Given the description of an element on the screen output the (x, y) to click on. 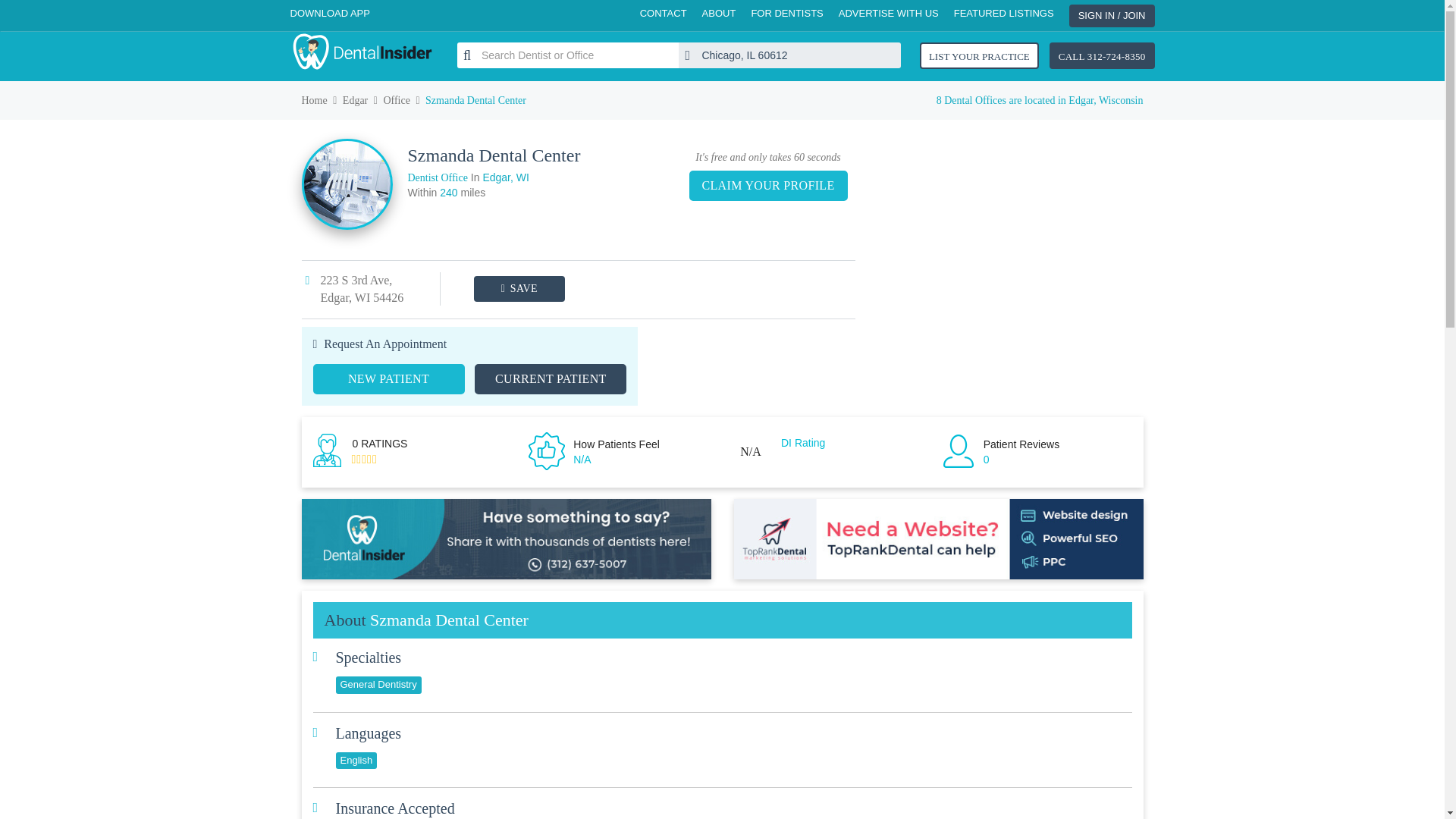
CONTACT (663, 13)
DOWNLOAD APP (329, 13)
Home (314, 100)
Chicago, IL 60612 (789, 54)
ABOUT (718, 13)
NEW PATIENT (388, 378)
0 RATINGS (435, 452)
Search Offices in Edgar, WI  (396, 100)
Best Dentists in Edgar, WI  (355, 100)
CLAIM YOUR PROFILE (767, 185)
